Given the description of an element on the screen output the (x, y) to click on. 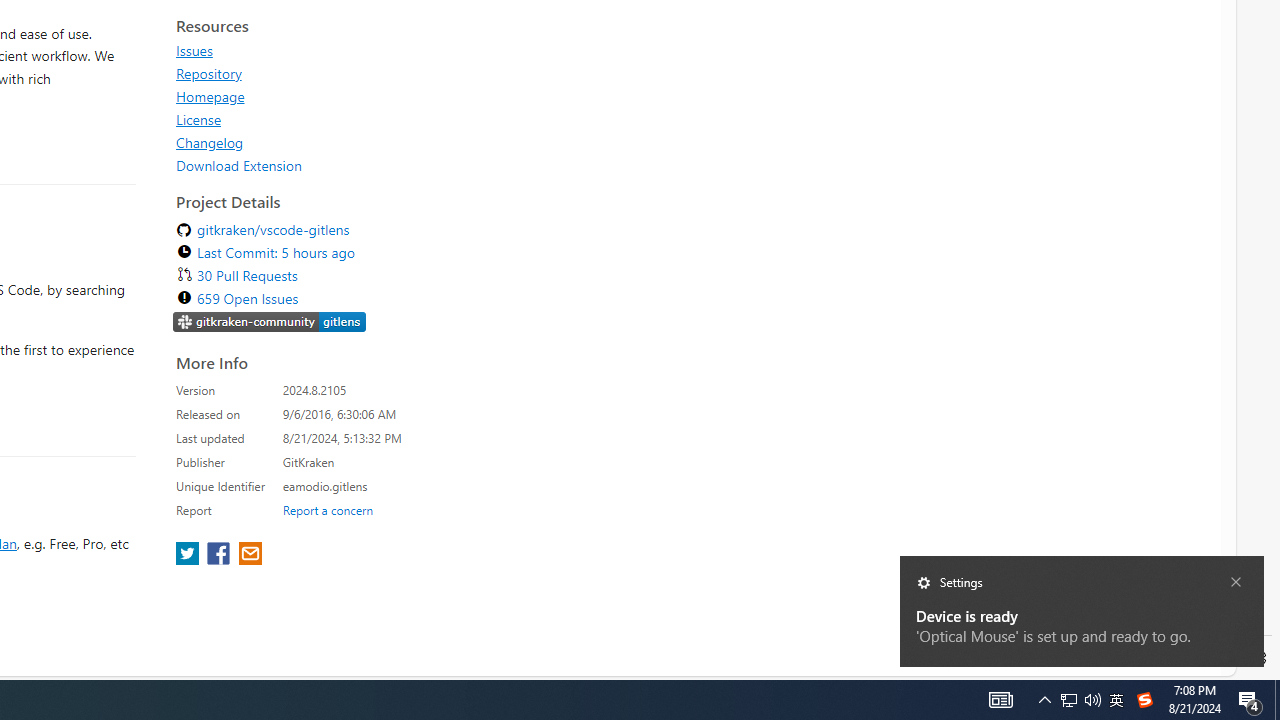
Repository (208, 73)
Changelog (358, 142)
Issues (358, 50)
share extension on email (249, 555)
Issues (194, 50)
Download Extension (358, 165)
share extension on twitter (190, 555)
share extension on facebook (220, 555)
Repository (358, 73)
Report a concern (327, 509)
